Given the description of an element on the screen output the (x, y) to click on. 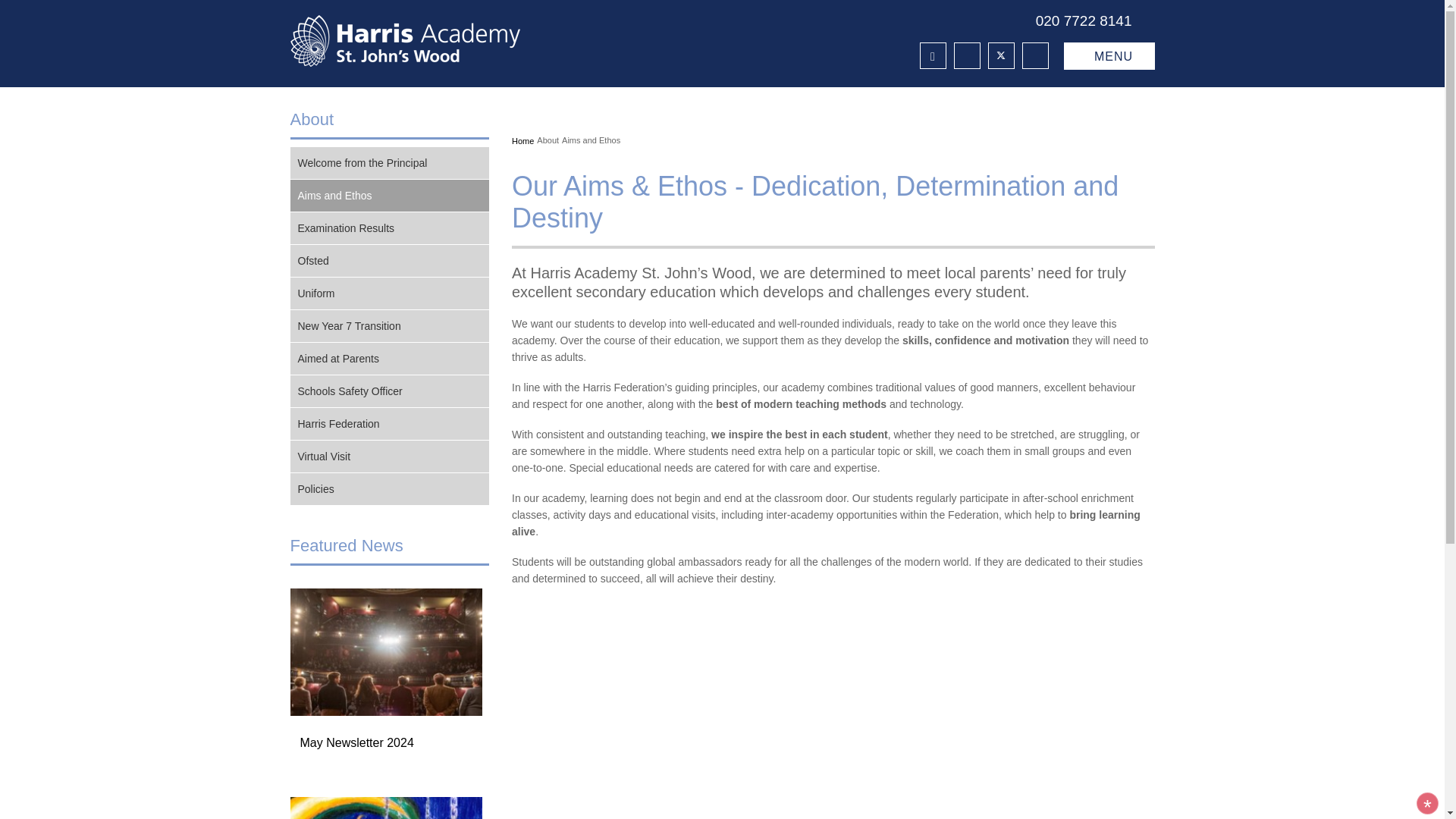
Featured News (346, 545)
Search (1035, 55)
Follow Us On X (1000, 55)
Harris Federation (931, 55)
Open Menu (1108, 55)
Contact Us (966, 55)
Harris Secondary St Johns Wood (434, 40)
